Given the description of an element on the screen output the (x, y) to click on. 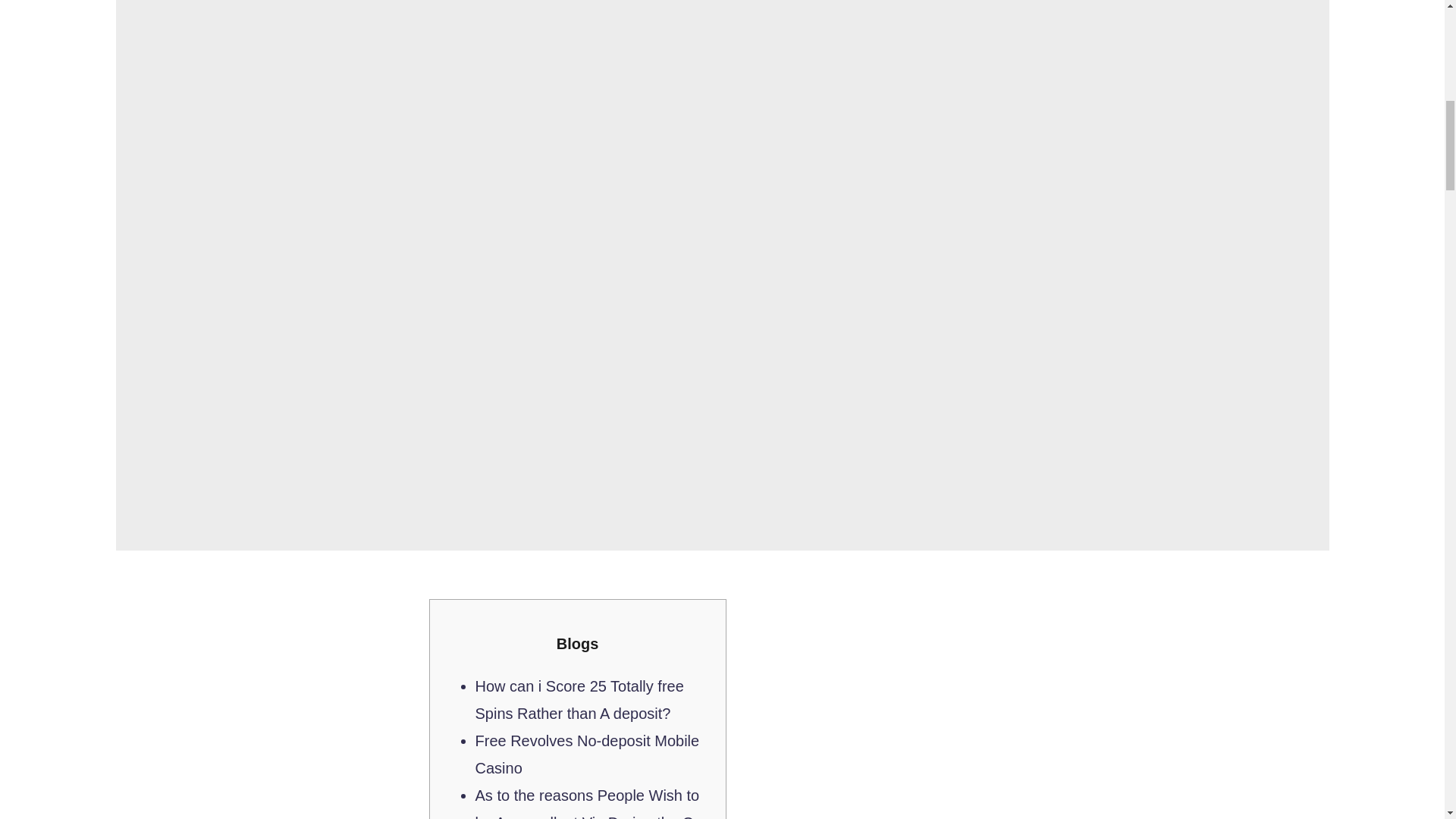
Free Revolves No-deposit Mobile Casino (586, 754)
How can i Score 25 Totally free Spins Rather than A deposit? (578, 699)
